Given the description of an element on the screen output the (x, y) to click on. 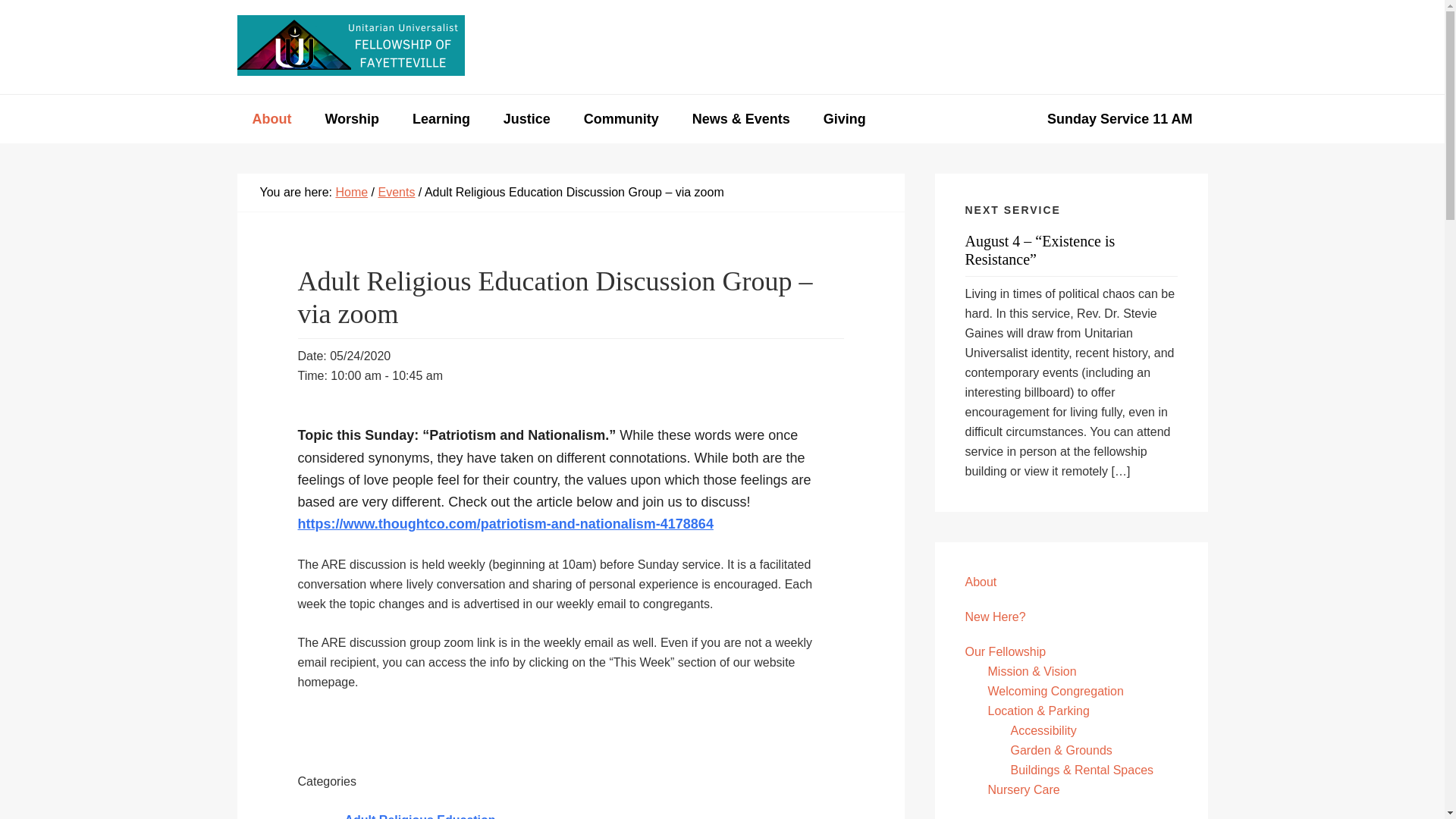
UUFF (349, 45)
Visit (1014, 46)
Worship (351, 119)
Learning (440, 119)
Contact (1087, 46)
Donate (1169, 46)
About (270, 119)
